Given the description of an element on the screen output the (x, y) to click on. 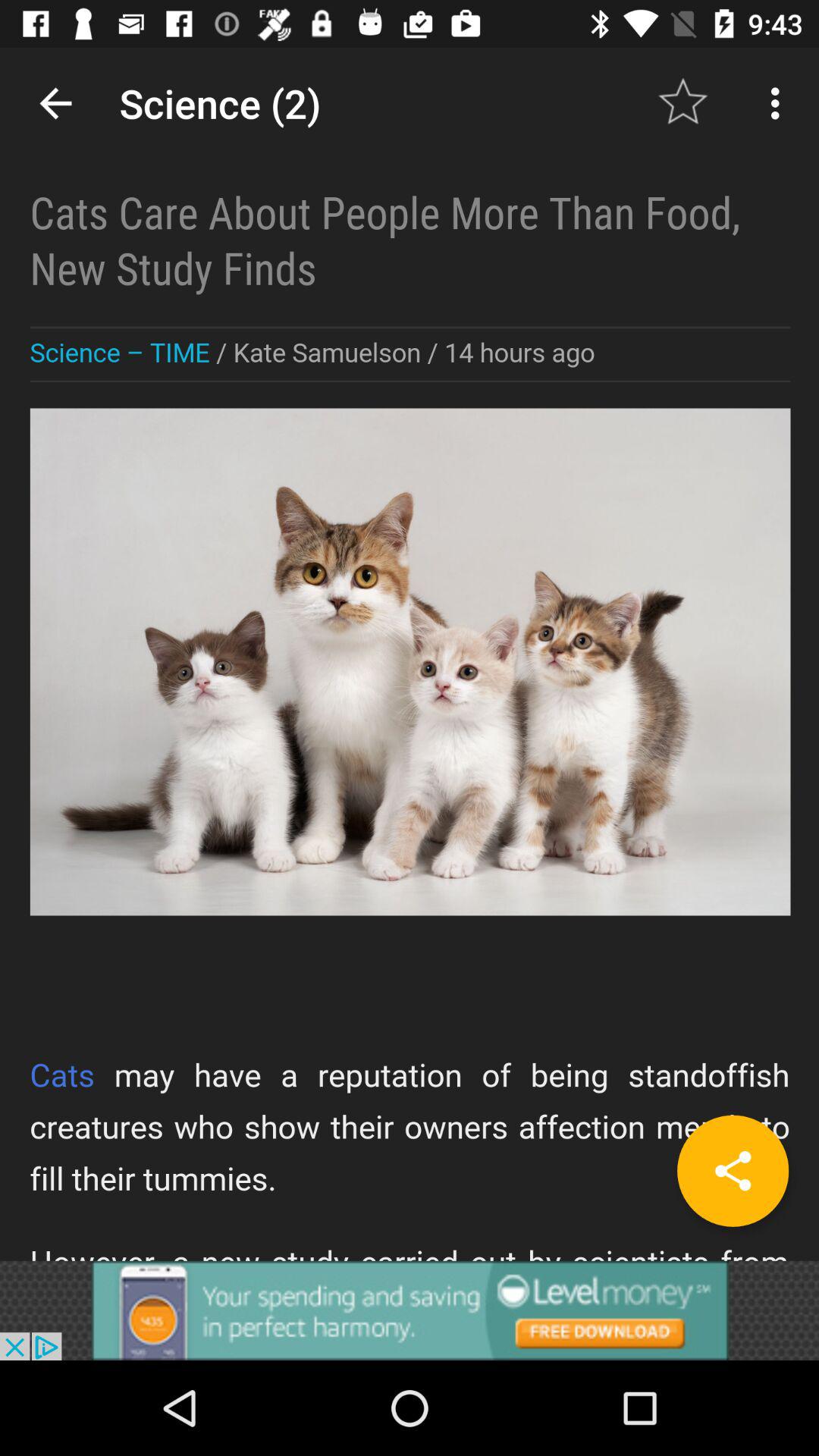
advertisent page (409, 1310)
